Given the description of an element on the screen output the (x, y) to click on. 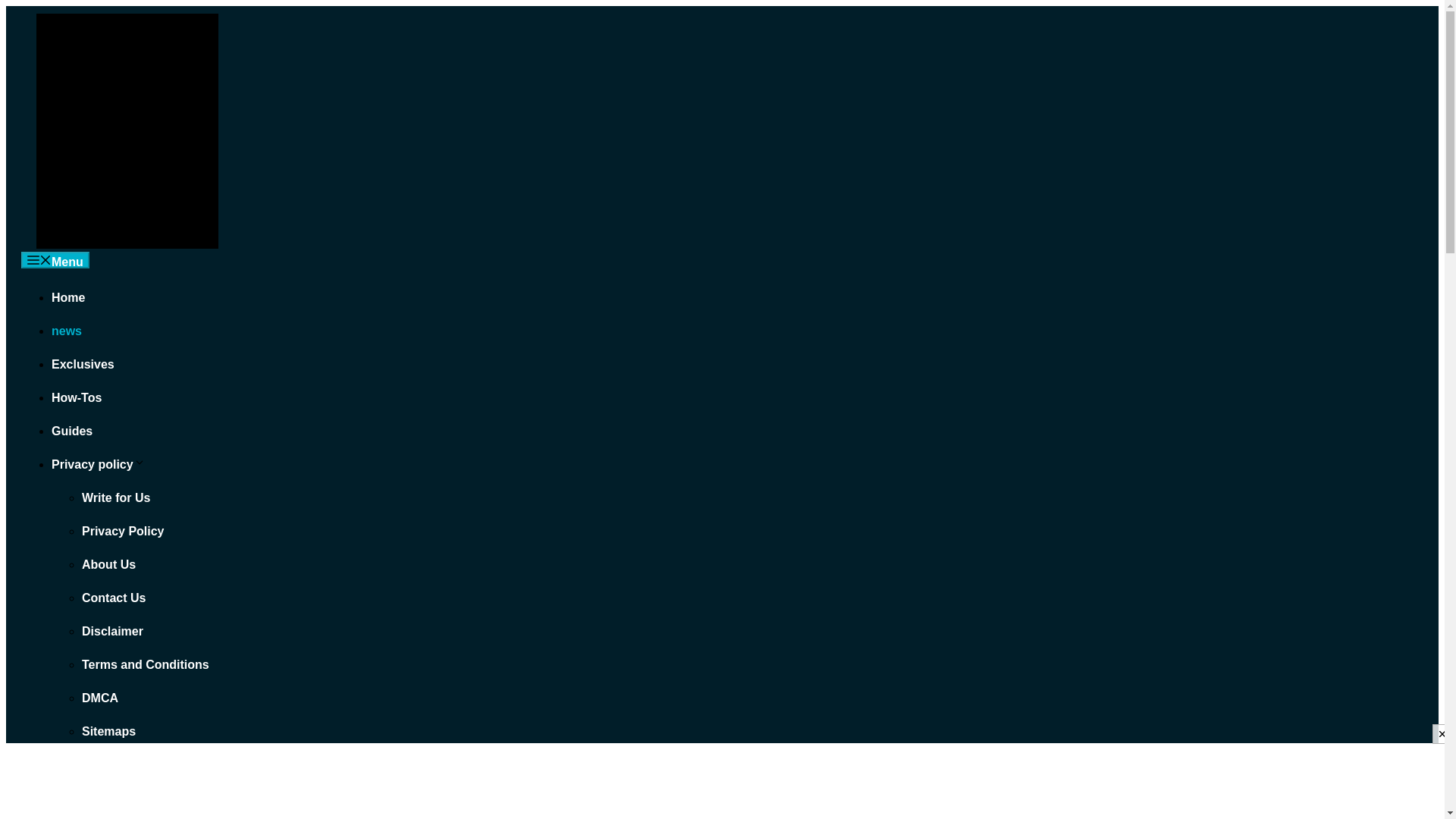
About Us (108, 563)
Contact Us (113, 597)
Guides (71, 431)
Menu (54, 259)
Comment Policy (128, 764)
Exclusives (82, 364)
DMCA (99, 697)
TheTechXP (127, 244)
Home (67, 297)
